Given the description of an element on the screen output the (x, y) to click on. 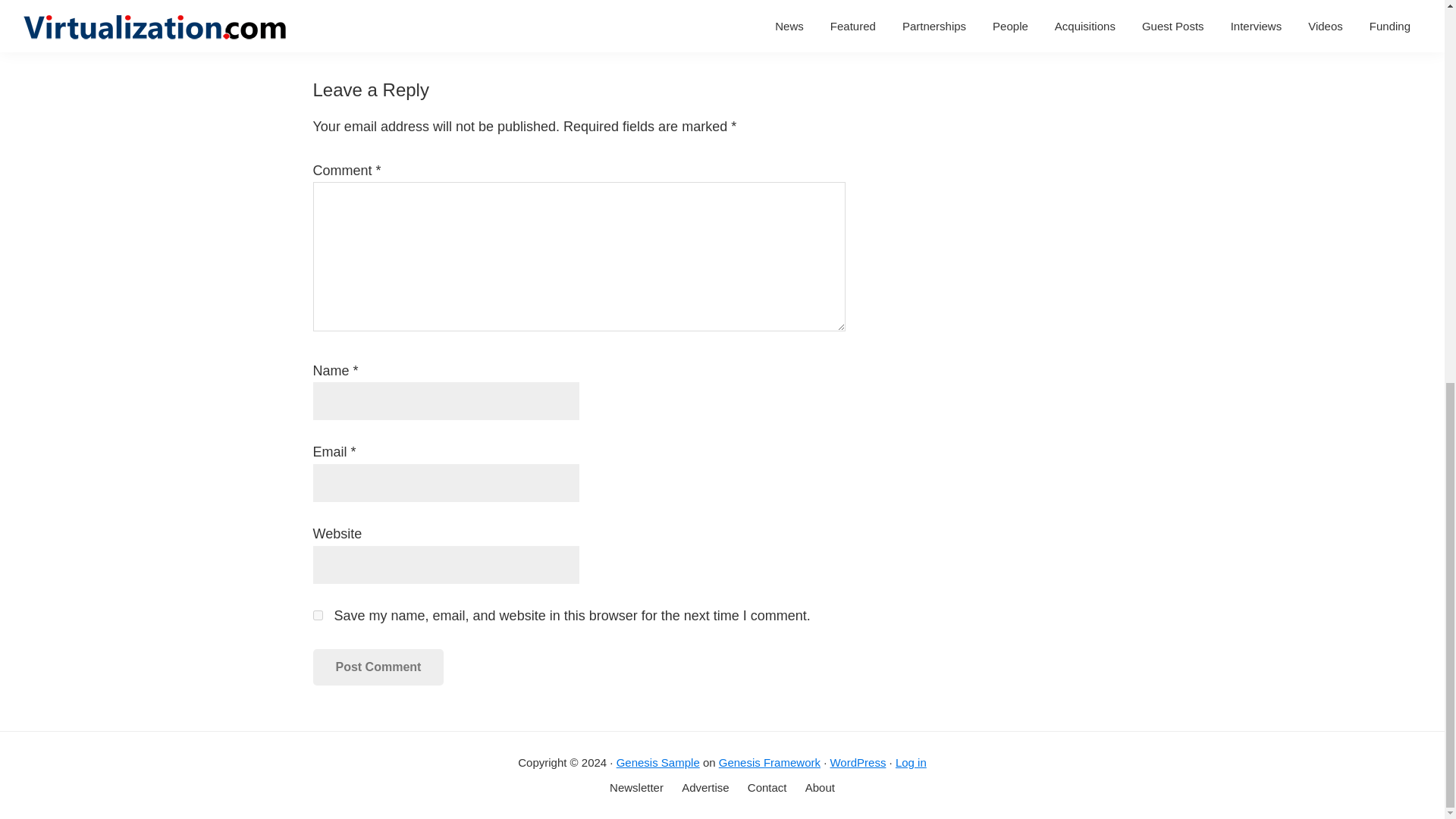
yes (317, 614)
Post Comment (378, 667)
Post Comment (378, 667)
Fedora (406, 22)
RedHat (481, 22)
Guest Posts (414, 4)
Xen (518, 22)
kvm (443, 22)
